Given the description of an element on the screen output the (x, y) to click on. 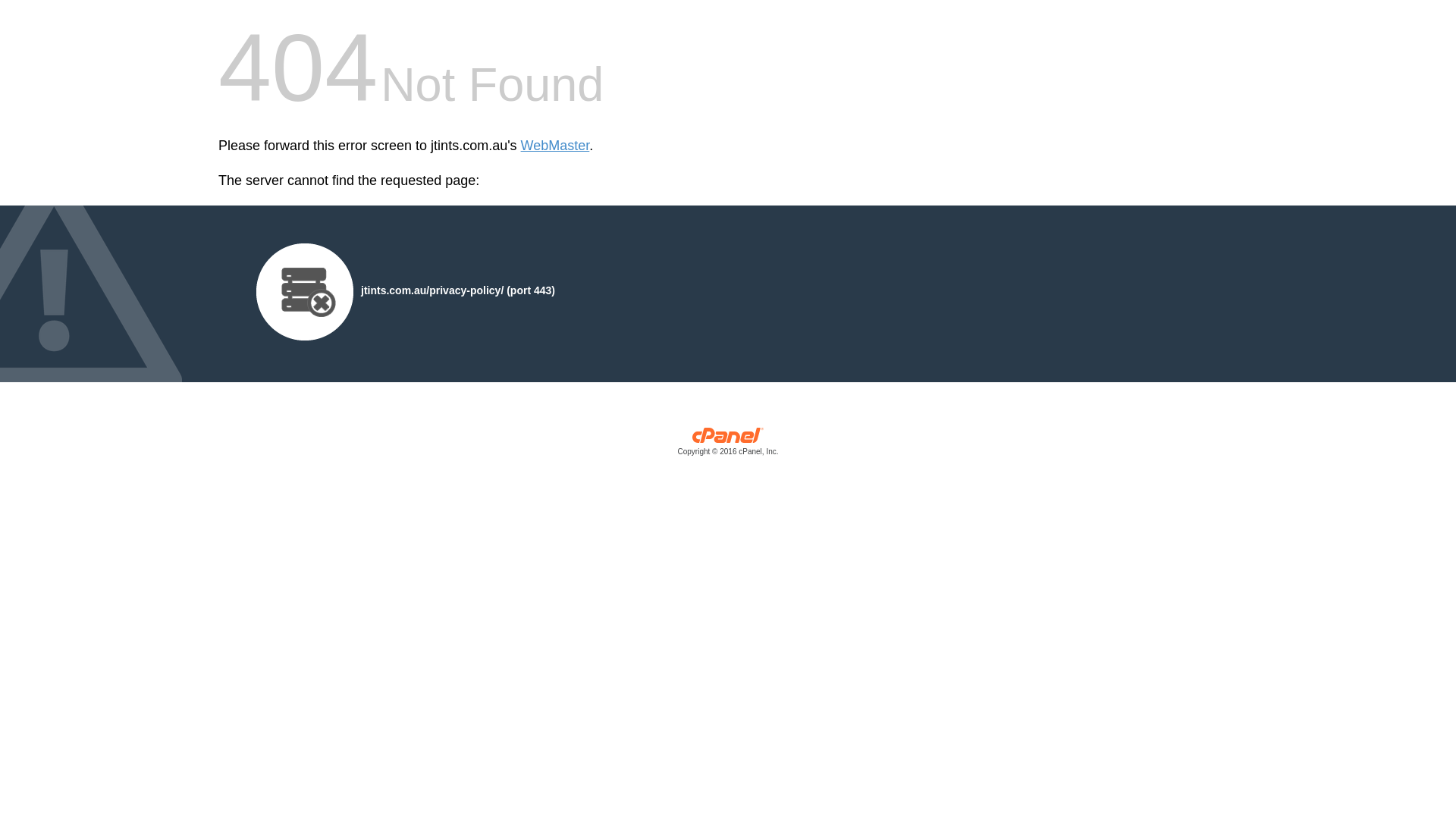
WebMaster Element type: text (554, 145)
